Given the description of an element on the screen output the (x, y) to click on. 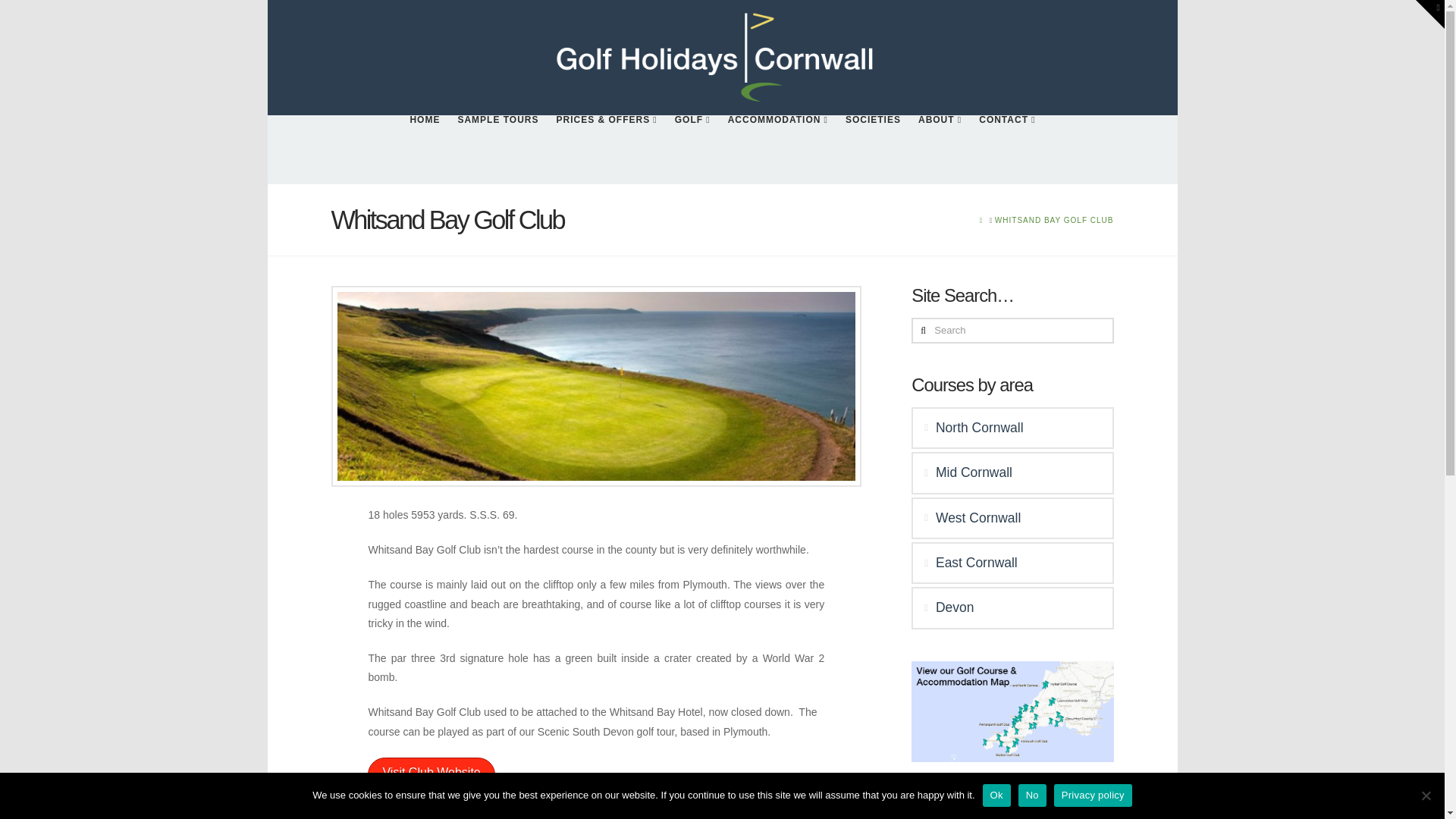
You Are Here (1053, 220)
ABOUT (938, 149)
SAMPLE TOURS (497, 149)
ACCOMMODATION (777, 149)
SOCIETIES (871, 149)
No (1425, 795)
HOME (424, 149)
CONTACT (1006, 149)
GOLF (692, 149)
